Given the description of an element on the screen output the (x, y) to click on. 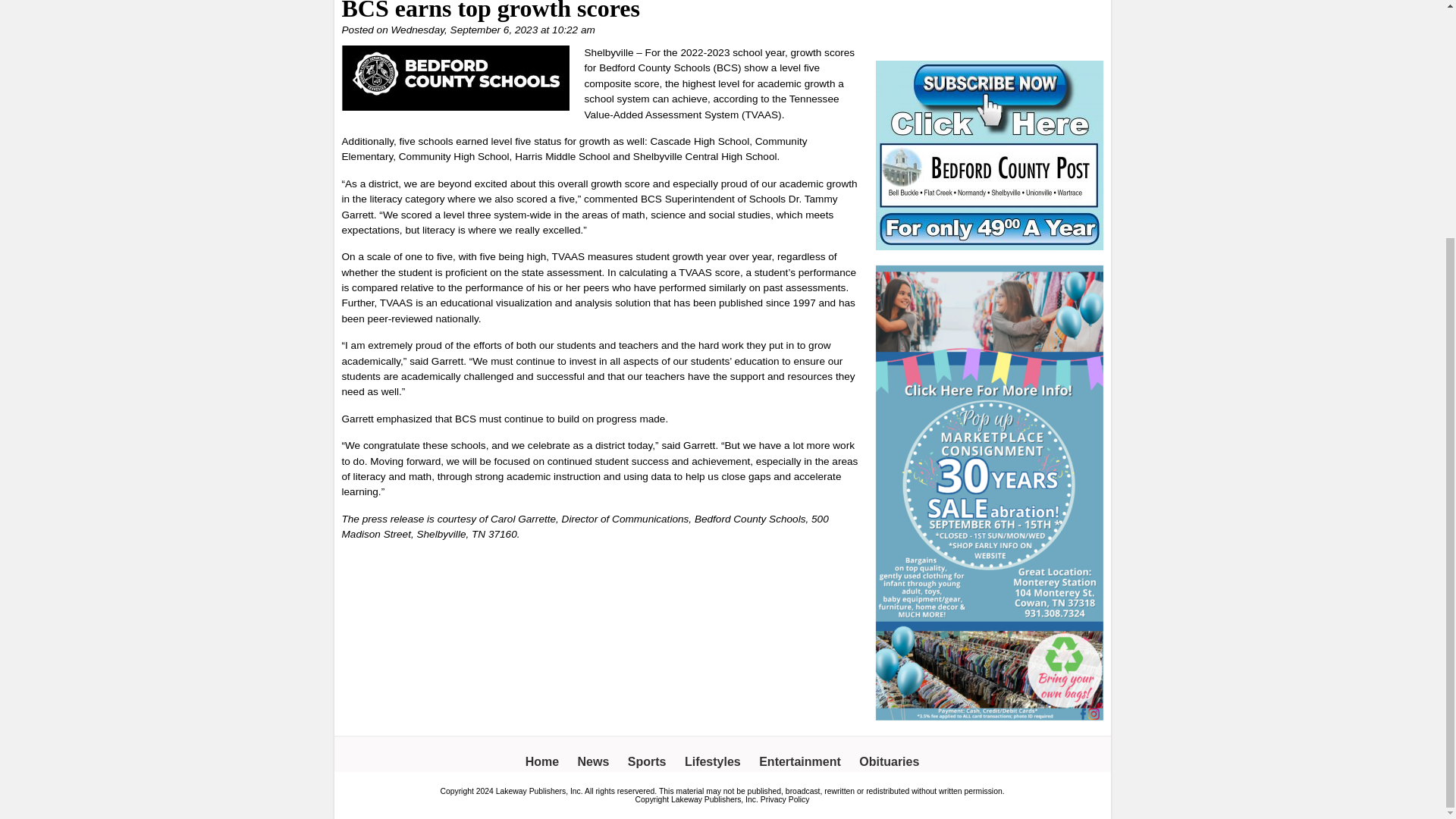
News (594, 761)
Entertainment (799, 761)
Lifestyles (712, 761)
Home (542, 761)
Obituaries (888, 761)
Sports (646, 761)
